Given the description of an element on the screen output the (x, y) to click on. 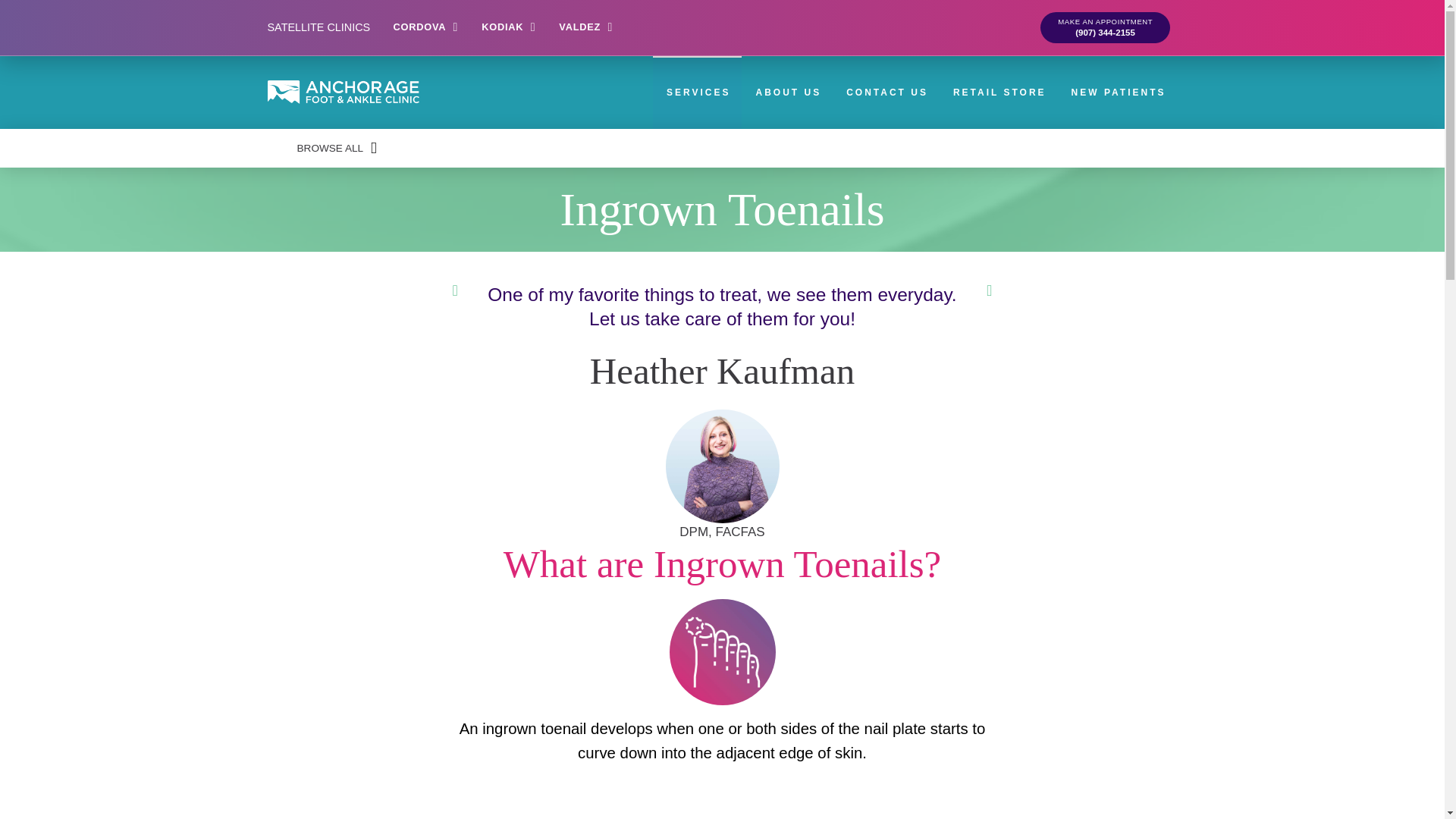
RETAIL STORE (998, 92)
ABOUT US (786, 92)
CONTACT US (885, 92)
SERVICES (696, 92)
CORDOVA (425, 26)
VALDEZ (585, 26)
KODIAK (507, 26)
NEW PATIENTS (1117, 92)
